Given the description of an element on the screen output the (x, y) to click on. 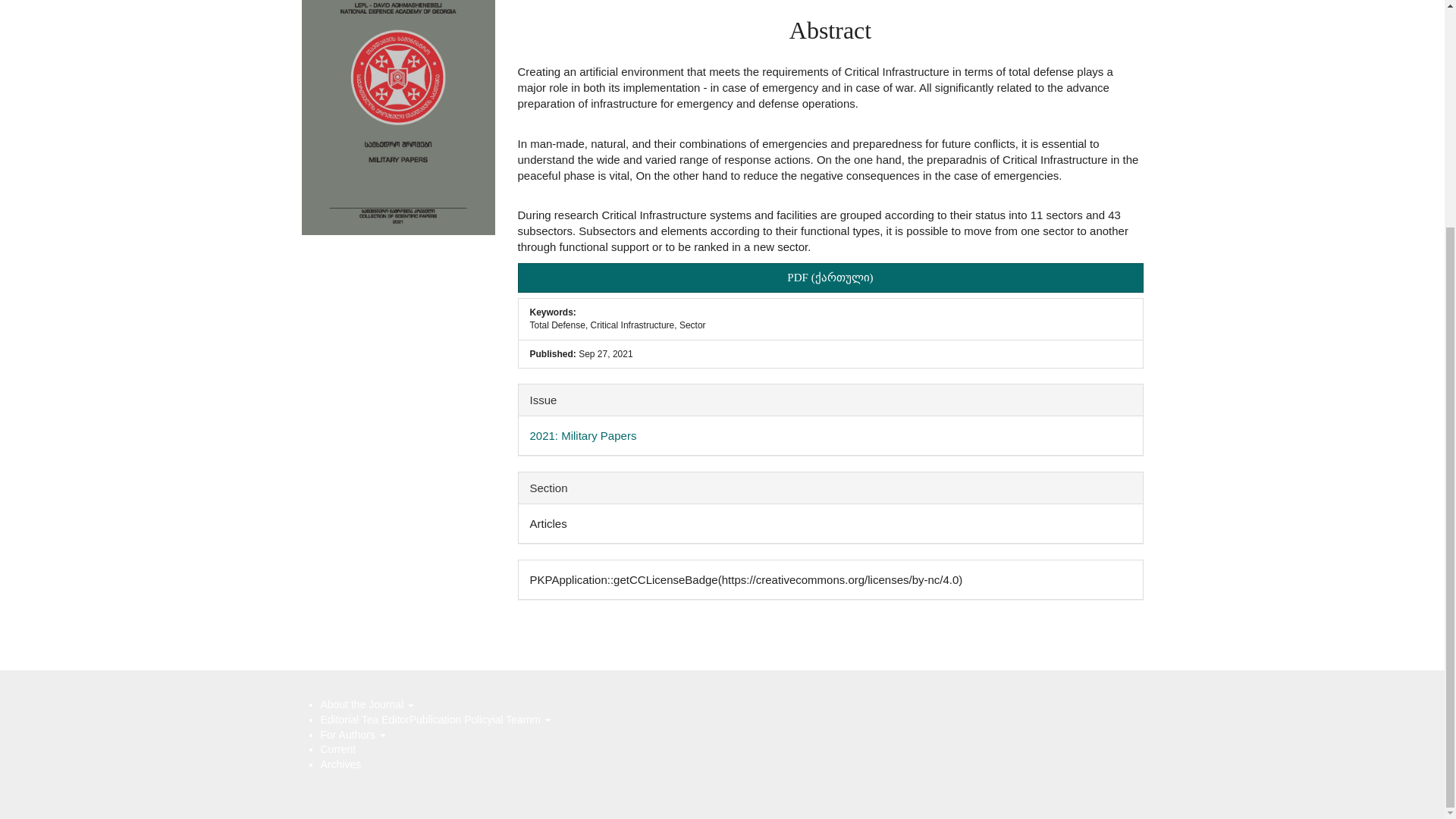
About the Journal (366, 704)
Editorial Tea EditorPublication Policyial Teamm (435, 719)
2021: Military Papers (582, 435)
